Given the description of an element on the screen output the (x, y) to click on. 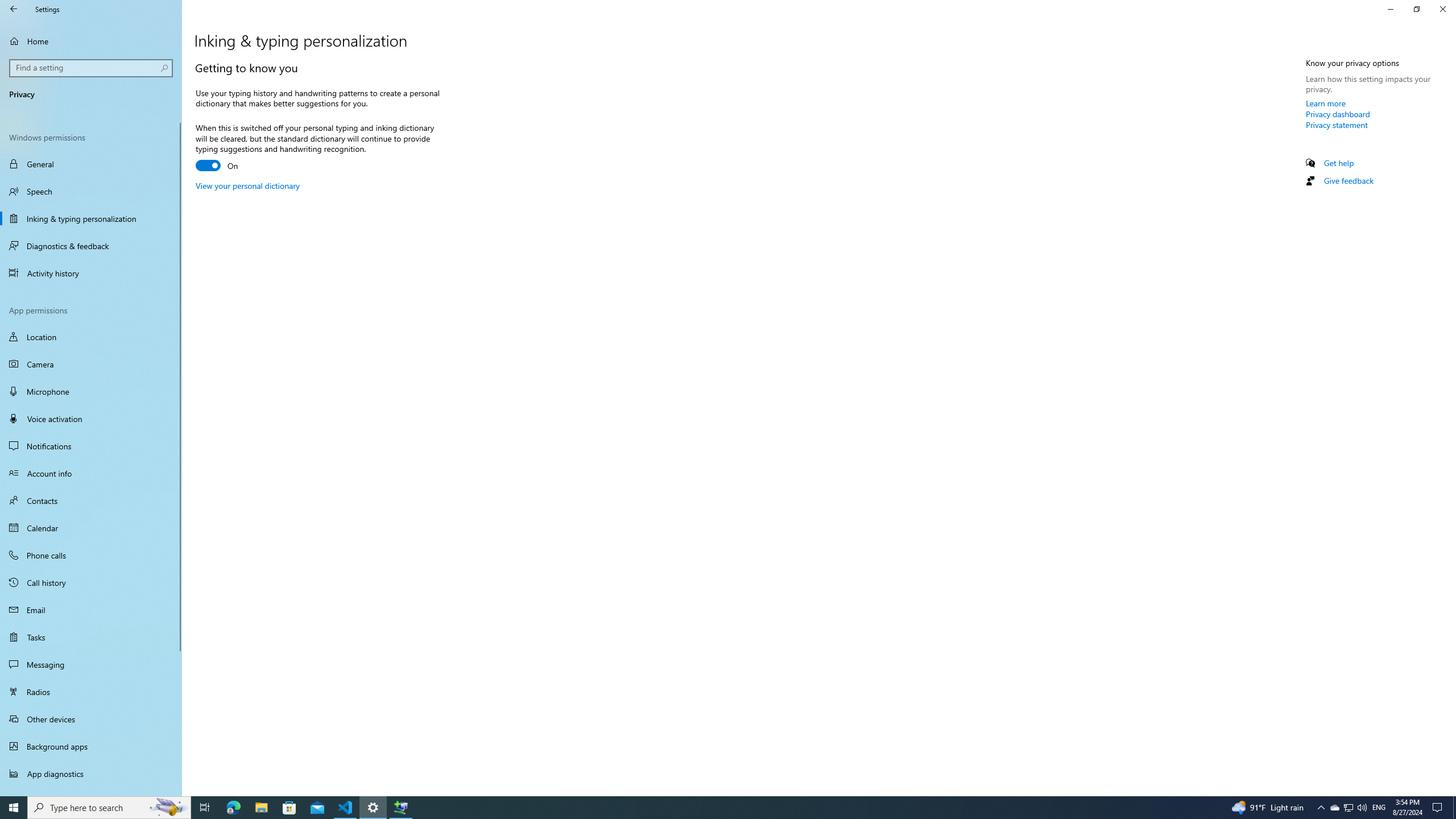
Phone calls (91, 554)
Learn more (1326, 102)
Extensible Wizards Host Process - 1 running window (400, 807)
Messaging (91, 664)
Search box, Find a setting (91, 67)
Radios (91, 691)
App diagnostics (91, 773)
Privacy dashboard (1338, 113)
Tasks (91, 636)
Activity history (91, 272)
Settings - 1 running window (373, 807)
Call history (91, 582)
